Given the description of an element on the screen output the (x, y) to click on. 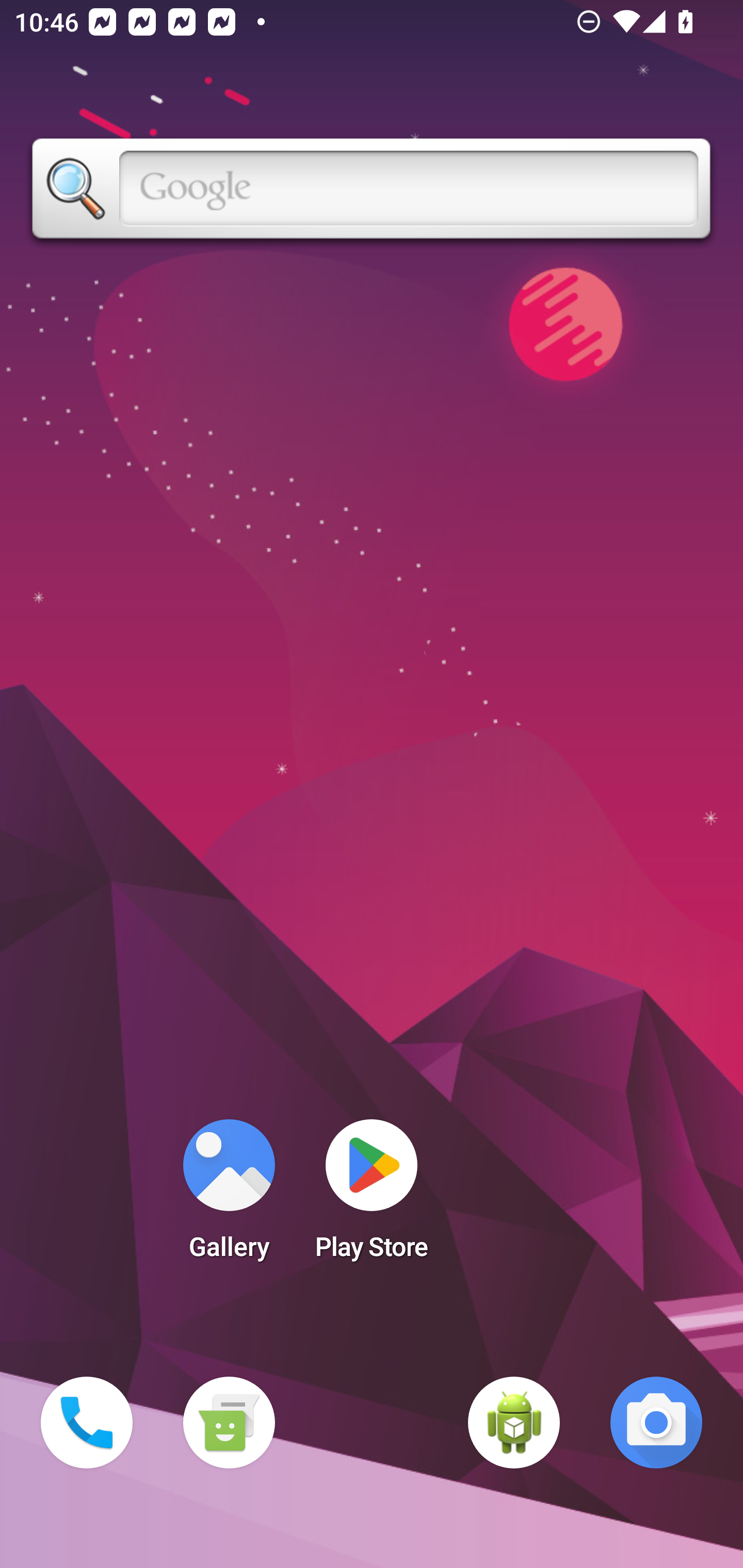
Gallery (228, 1195)
Play Store (371, 1195)
Phone (86, 1422)
Messaging (228, 1422)
WebView Browser Tester (513, 1422)
Camera (656, 1422)
